Given the description of an element on the screen output the (x, y) to click on. 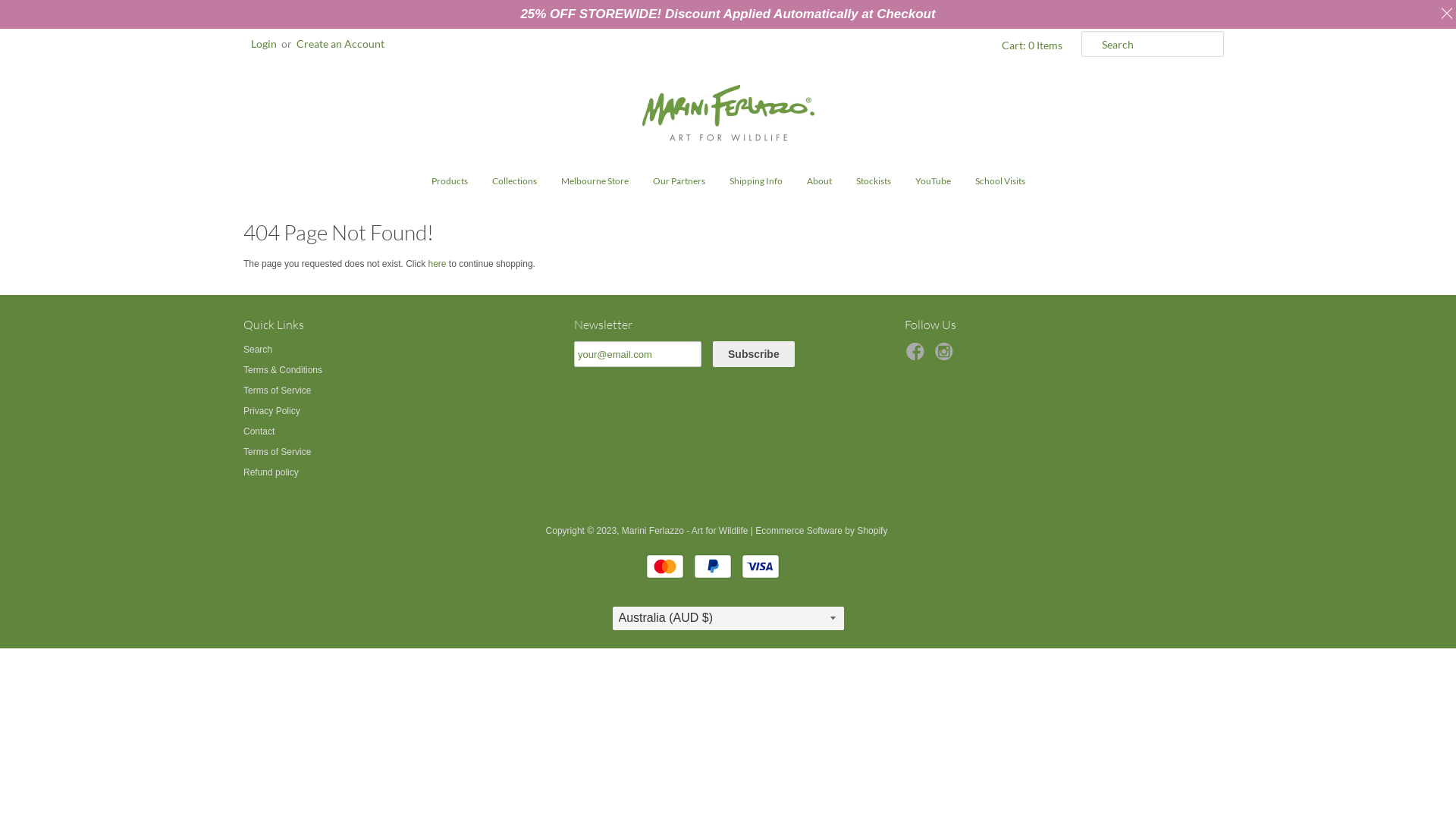
Ecommerce Software by Shopify Element type: text (821, 530)
Terms & Conditions Element type: text (282, 369)
Follow us on Instagram! Element type: hover (946, 356)
Contact Element type: text (258, 431)
Subscribe Element type: text (753, 354)
Melbourne Store Element type: text (594, 180)
YouTube Element type: text (932, 180)
Login Element type: text (263, 43)
School Visits Element type: text (999, 180)
Terms of Service Element type: text (276, 390)
Shipping Info Element type: text (755, 180)
Collections Element type: text (514, 180)
Terms of Service Element type: text (276, 451)
Our Partners Element type: text (678, 180)
here Element type: text (436, 263)
Cart: 0 Items Element type: text (1029, 44)
Privacy Policy Element type: text (271, 410)
Stockists Element type: text (873, 180)
Create an Account Element type: text (340, 43)
About Element type: text (818, 180)
Products Element type: text (449, 180)
Search Element type: text (257, 349)
Follow us on Facebook! Element type: hover (917, 356)
Refund policy Element type: text (270, 472)
